Given the description of an element on the screen output the (x, y) to click on. 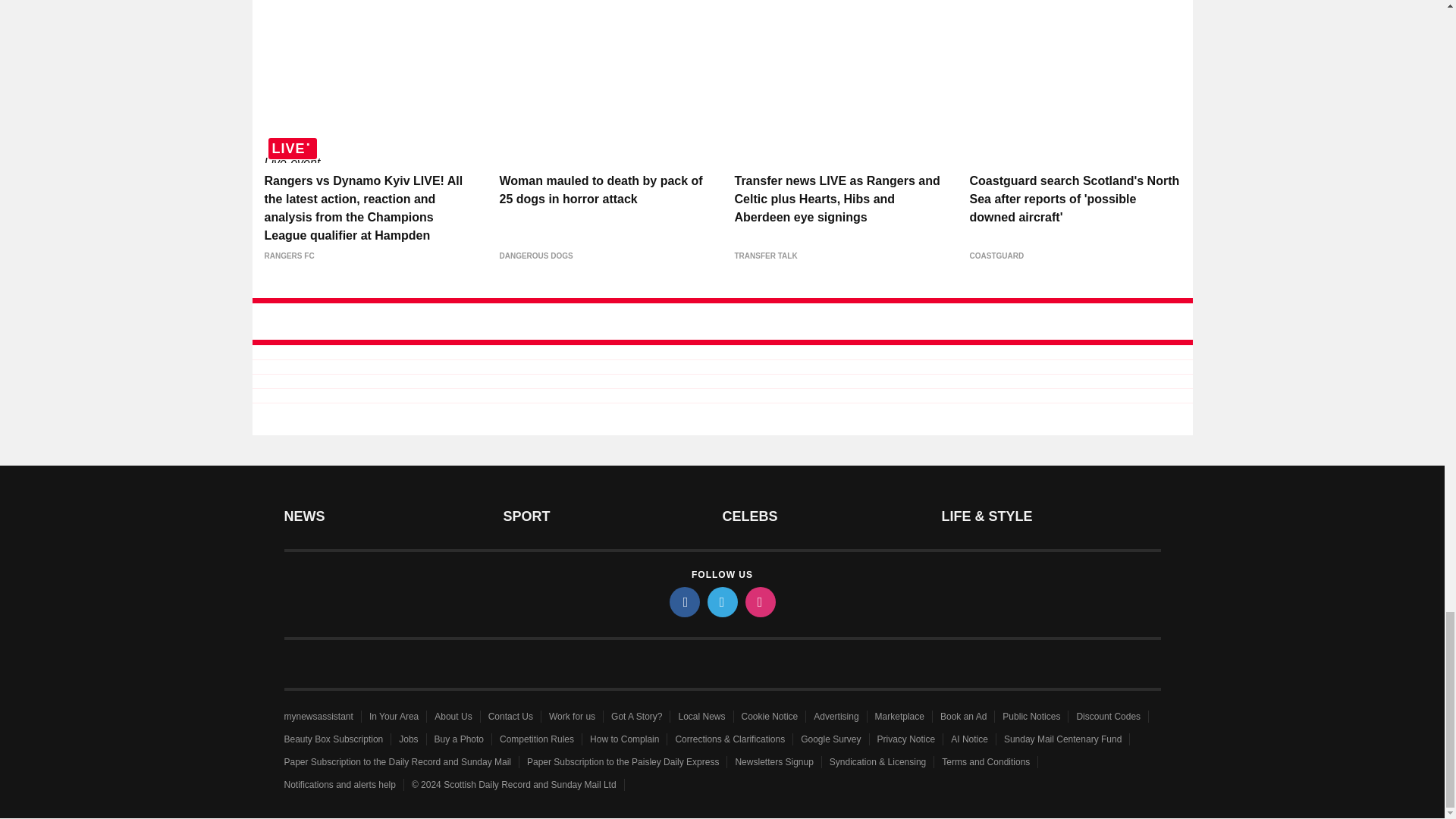
instagram (759, 602)
twitter (721, 602)
facebook (683, 602)
